Given the description of an element on the screen output the (x, y) to click on. 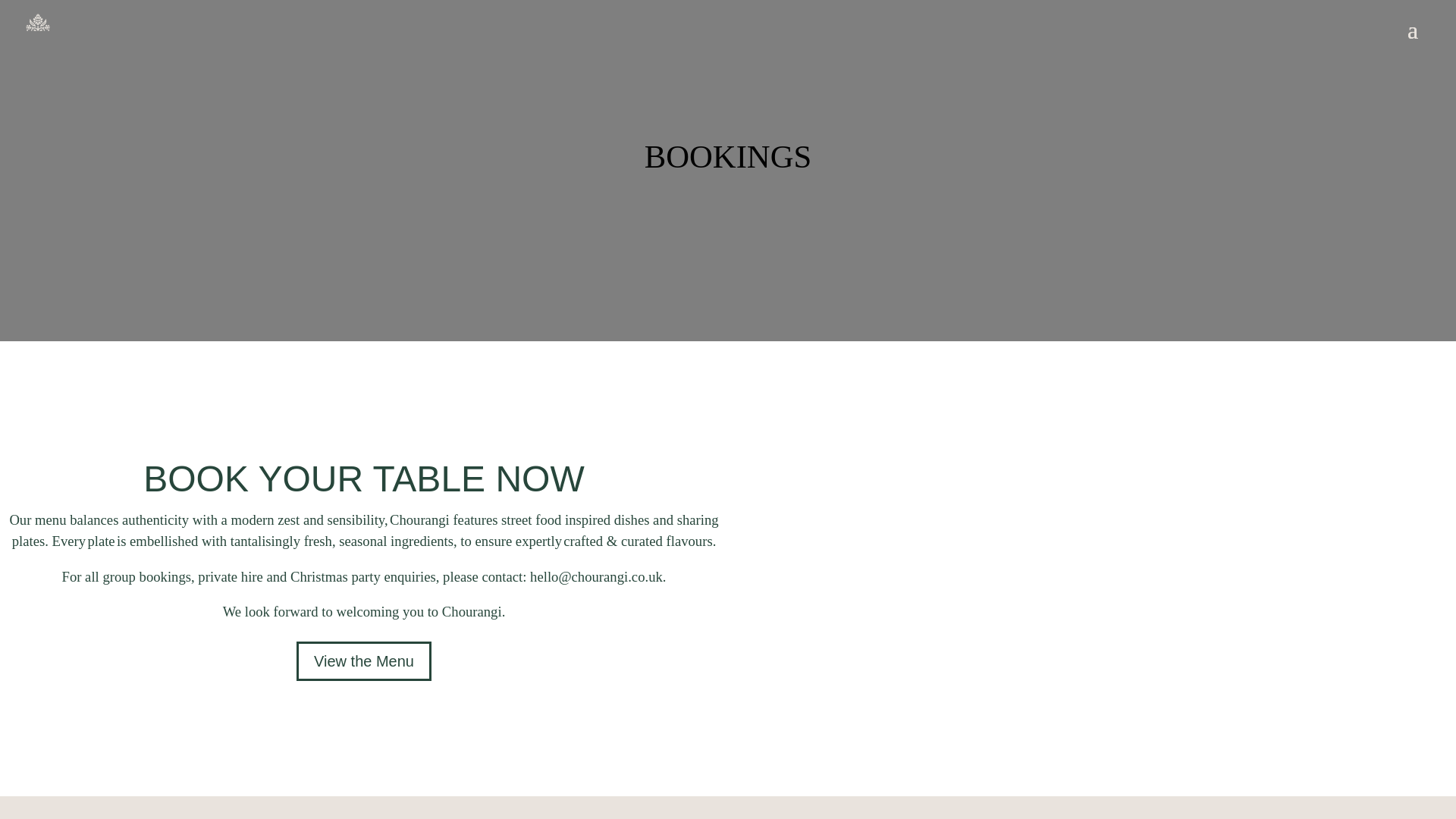
View the Menu (363, 660)
